Given the description of an element on the screen output the (x, y) to click on. 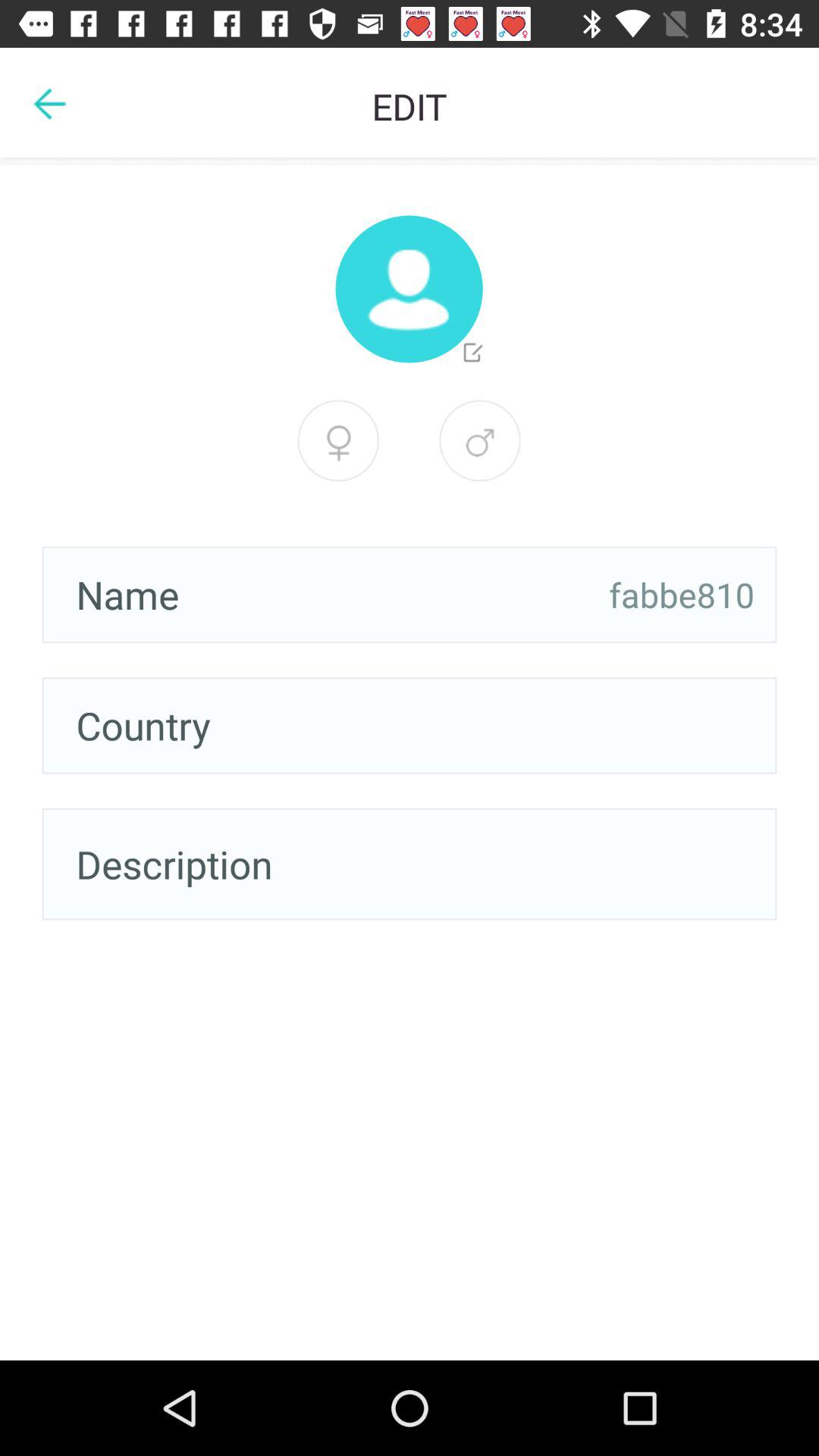
tap icon to the right of name item (681, 594)
